Given the description of an element on the screen output the (x, y) to click on. 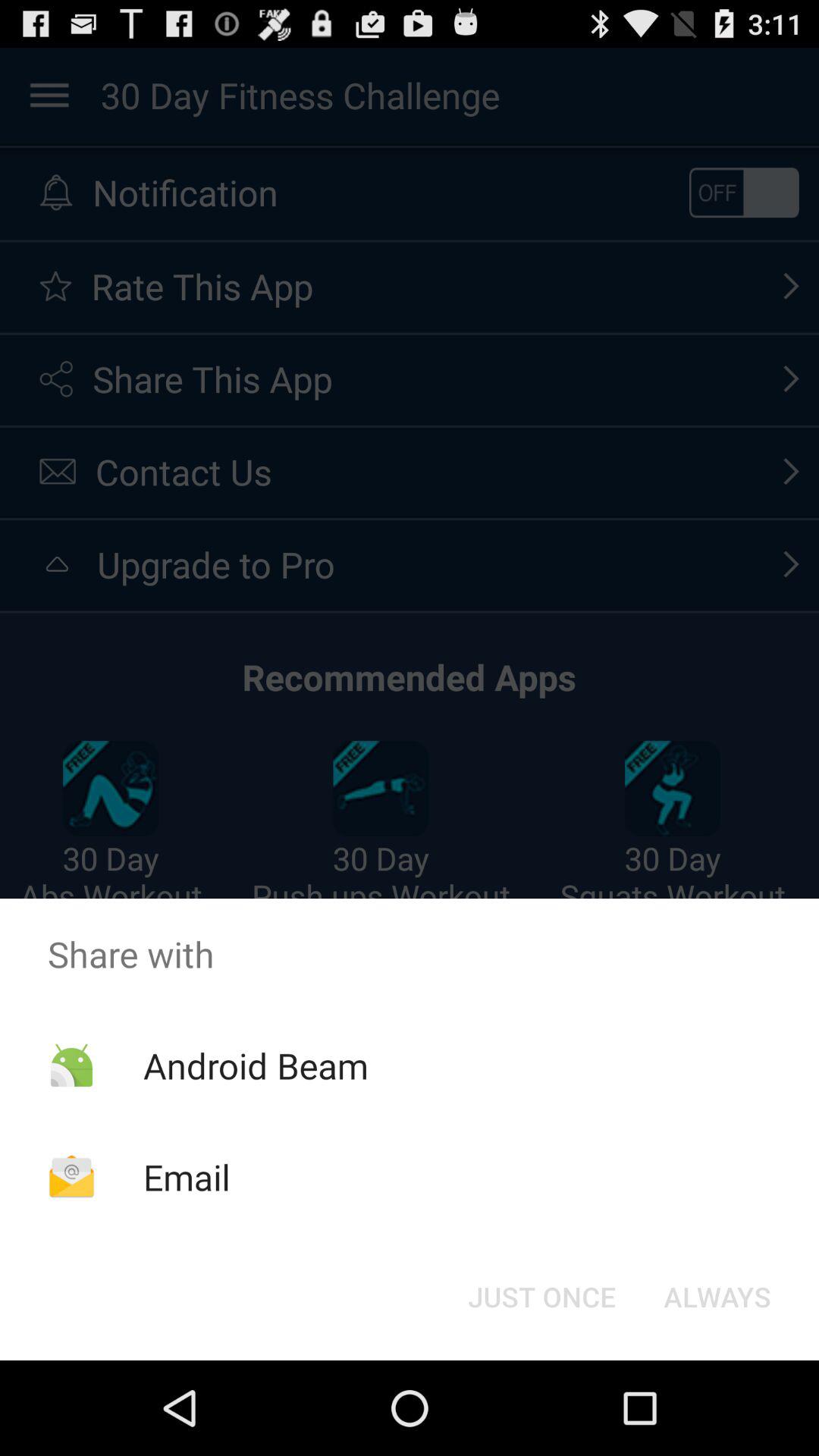
turn off the icon to the left of the always item (541, 1296)
